Given the description of an element on the screen output the (x, y) to click on. 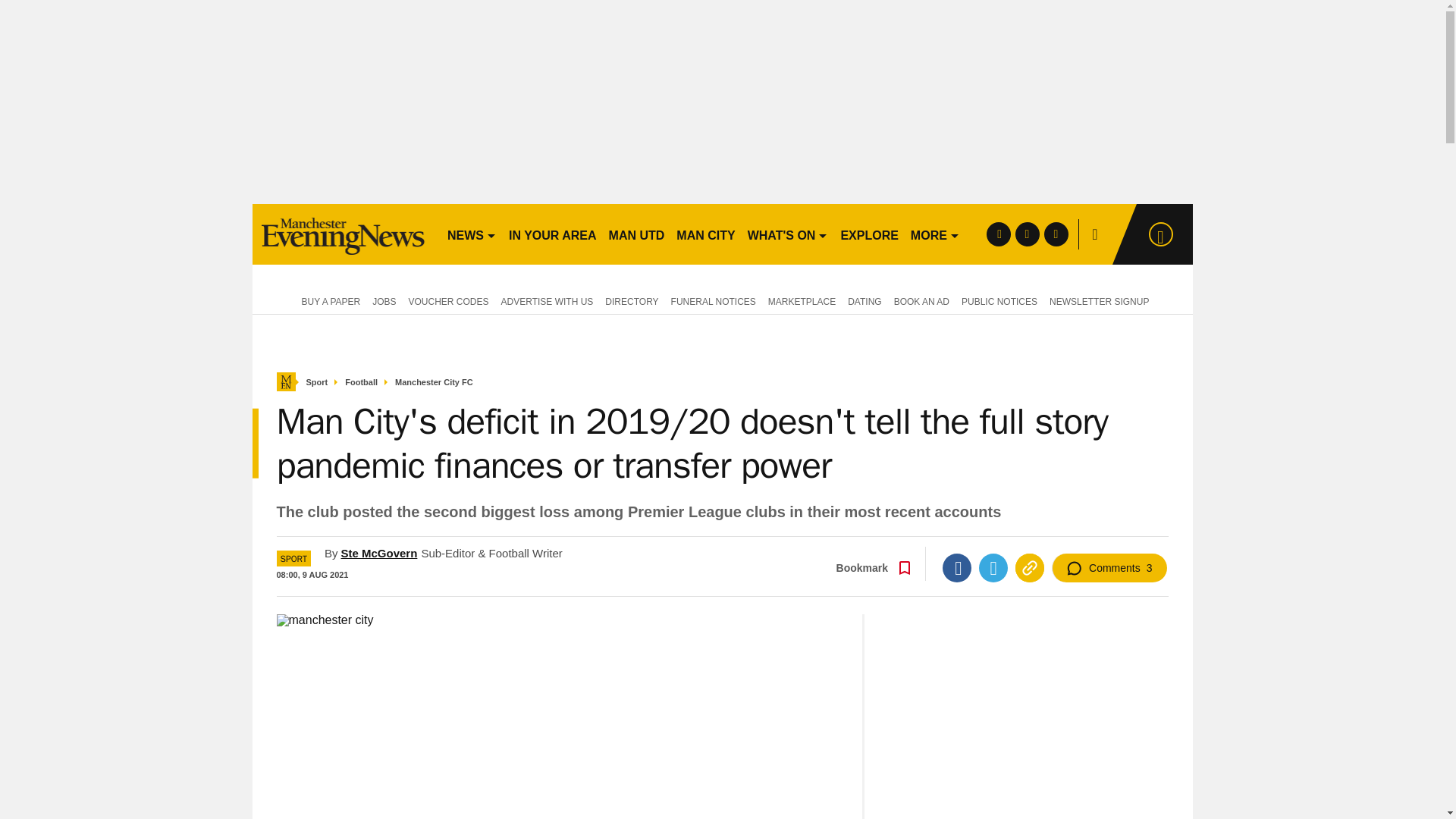
facebook (997, 233)
Twitter (992, 567)
MAN UTD (636, 233)
instagram (1055, 233)
Facebook (956, 567)
men (342, 233)
IN YOUR AREA (552, 233)
WHAT'S ON (787, 233)
MAN CITY (705, 233)
NEWS (471, 233)
